Given the description of an element on the screen output the (x, y) to click on. 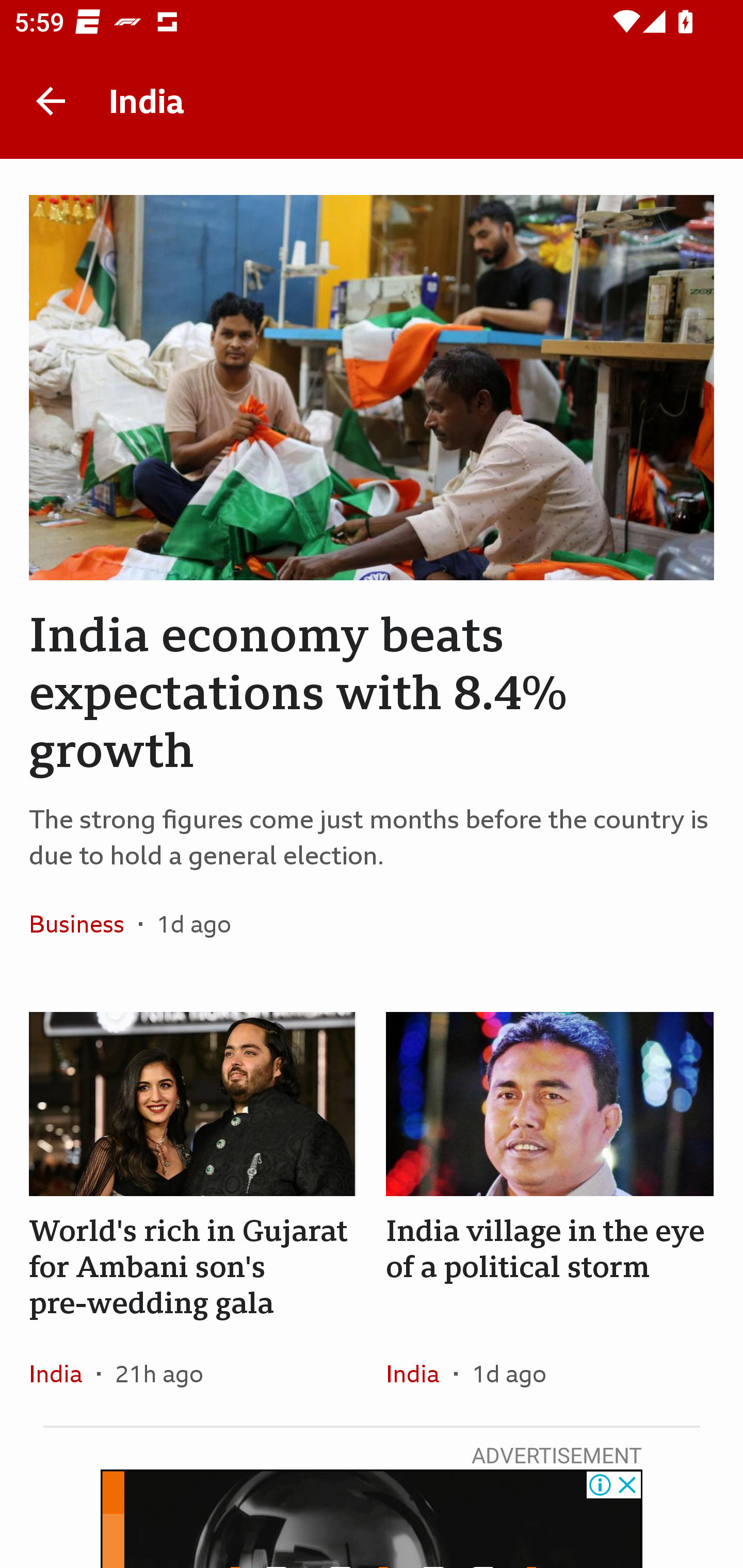
Back (50, 101)
Business In the section Business (83, 923)
India In the section India (62, 1373)
India In the section India (419, 1373)
